Given the description of an element on the screen output the (x, y) to click on. 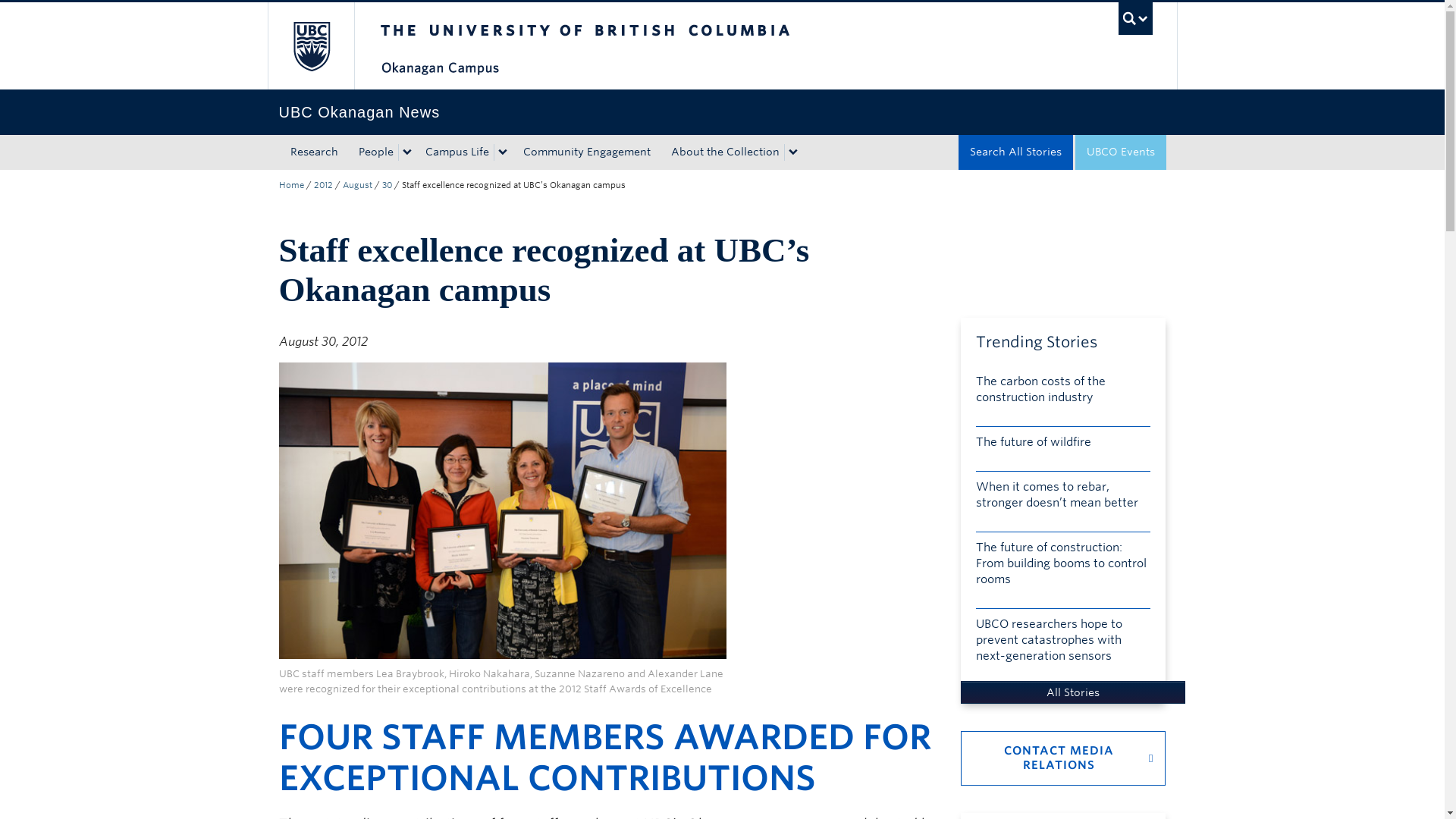
About the Collection (722, 151)
The carbon costs of the construction industry (1062, 393)
Community Engagement (586, 151)
Events (1120, 151)
30 (386, 184)
2012 (323, 184)
August (357, 184)
UBC Okanagan News (722, 112)
Search All Stories (1015, 151)
UBC Okanagan News (722, 112)
